Given the description of an element on the screen output the (x, y) to click on. 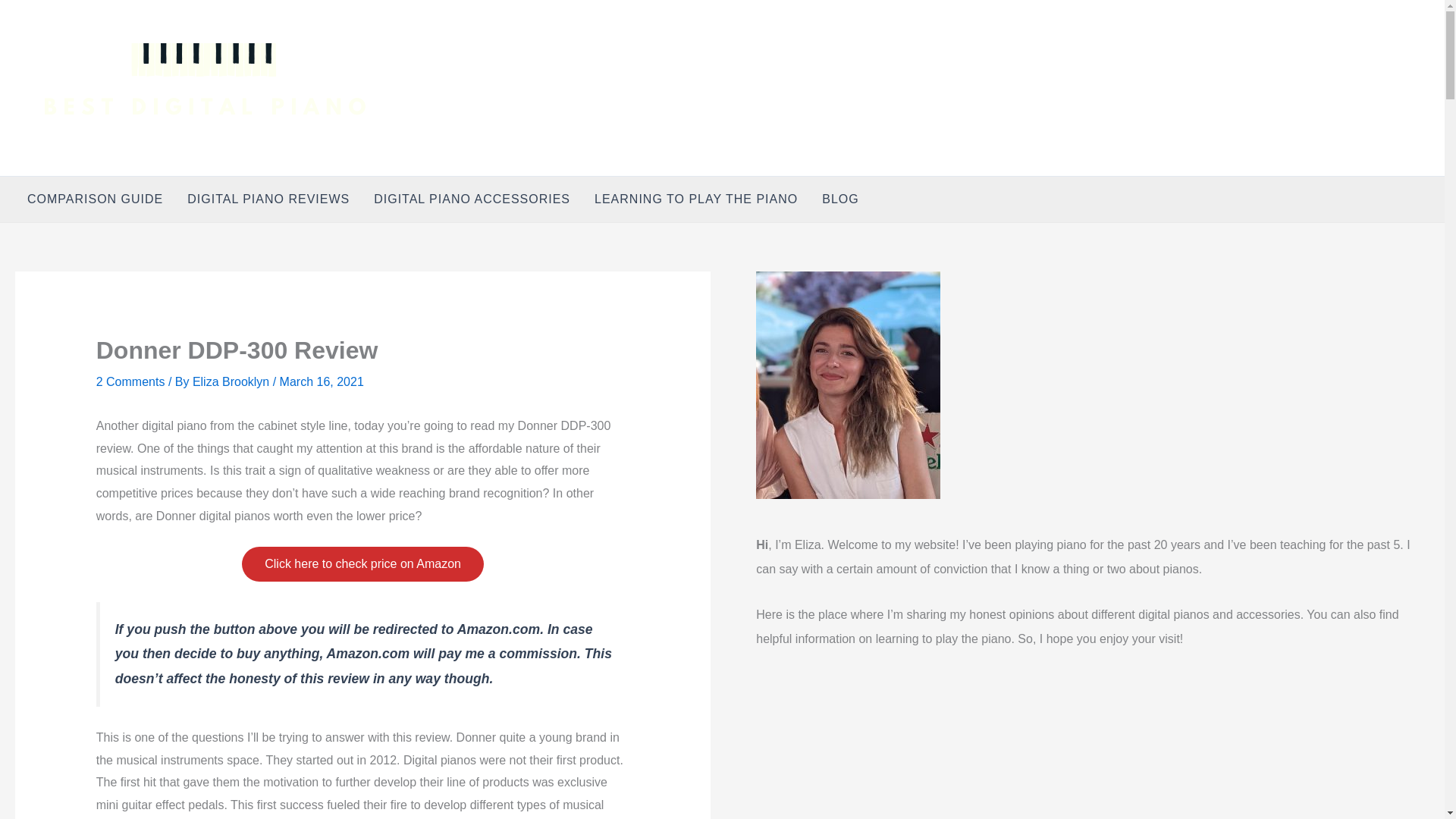
2 Comments (130, 381)
DIGITAL PIANO ACCESSORIES (471, 198)
DIGITAL PIANO REVIEWS (267, 198)
View all posts by Eliza Brooklyn (232, 381)
LEARNING TO PLAY THE PIANO (695, 198)
COMPARISON GUIDE (94, 198)
Best Digital Piano Reviews (267, 198)
Piano Lessons (695, 198)
BLOG (839, 198)
Best Digital Piano Accessories (471, 198)
